Given the description of an element on the screen output the (x, y) to click on. 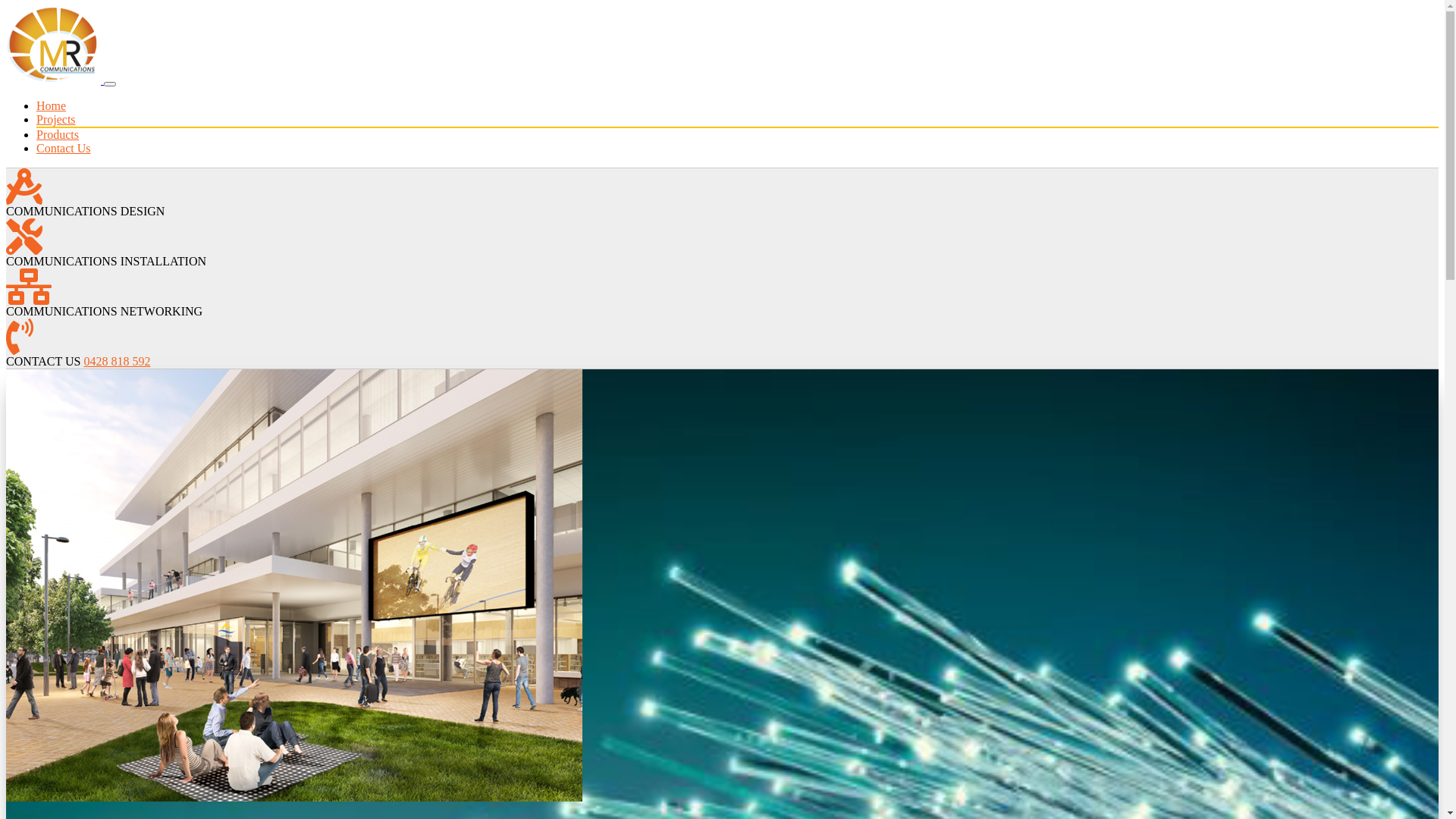
Products Element type: text (57, 134)
Projects
(current) Element type: text (55, 118)
Home Element type: text (50, 105)
0428 818 592 Element type: text (116, 360)
Contact Us Element type: text (63, 147)
